Given the description of an element on the screen output the (x, y) to click on. 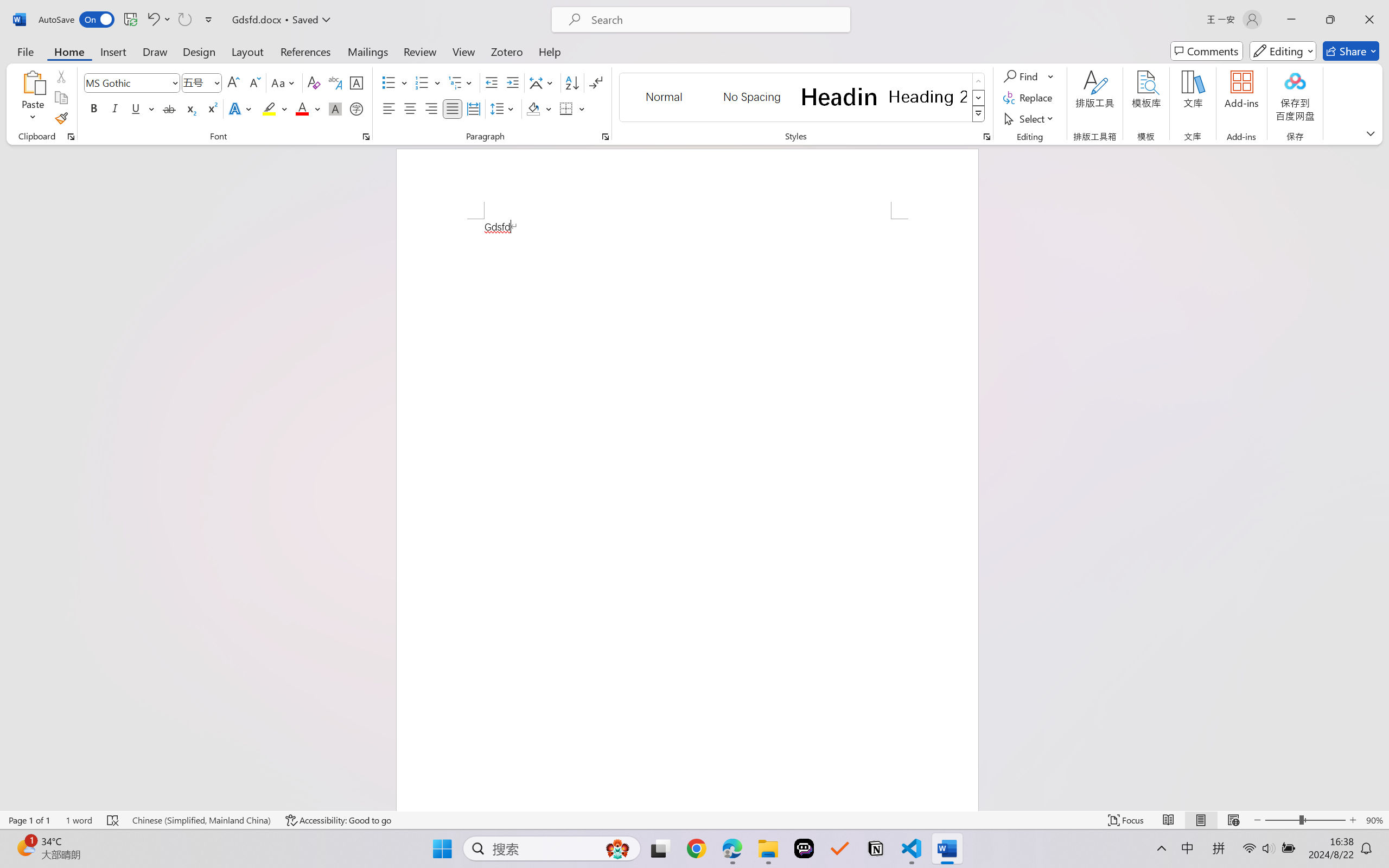
Microsoft search (715, 19)
